Given the description of an element on the screen output the (x, y) to click on. 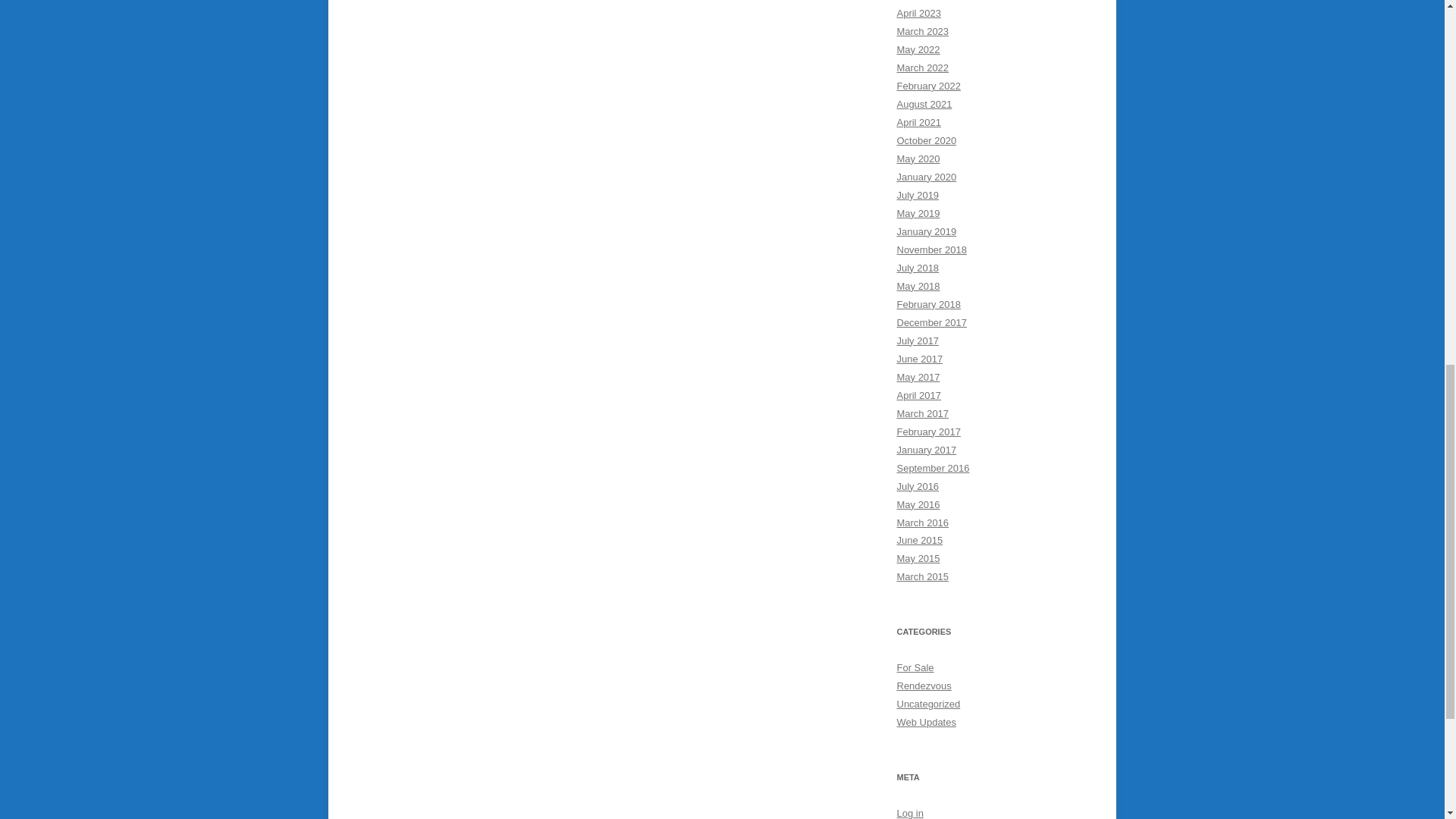
March 2023 (922, 30)
June 2023 (919, 0)
April 2023 (918, 12)
